Given the description of an element on the screen output the (x, y) to click on. 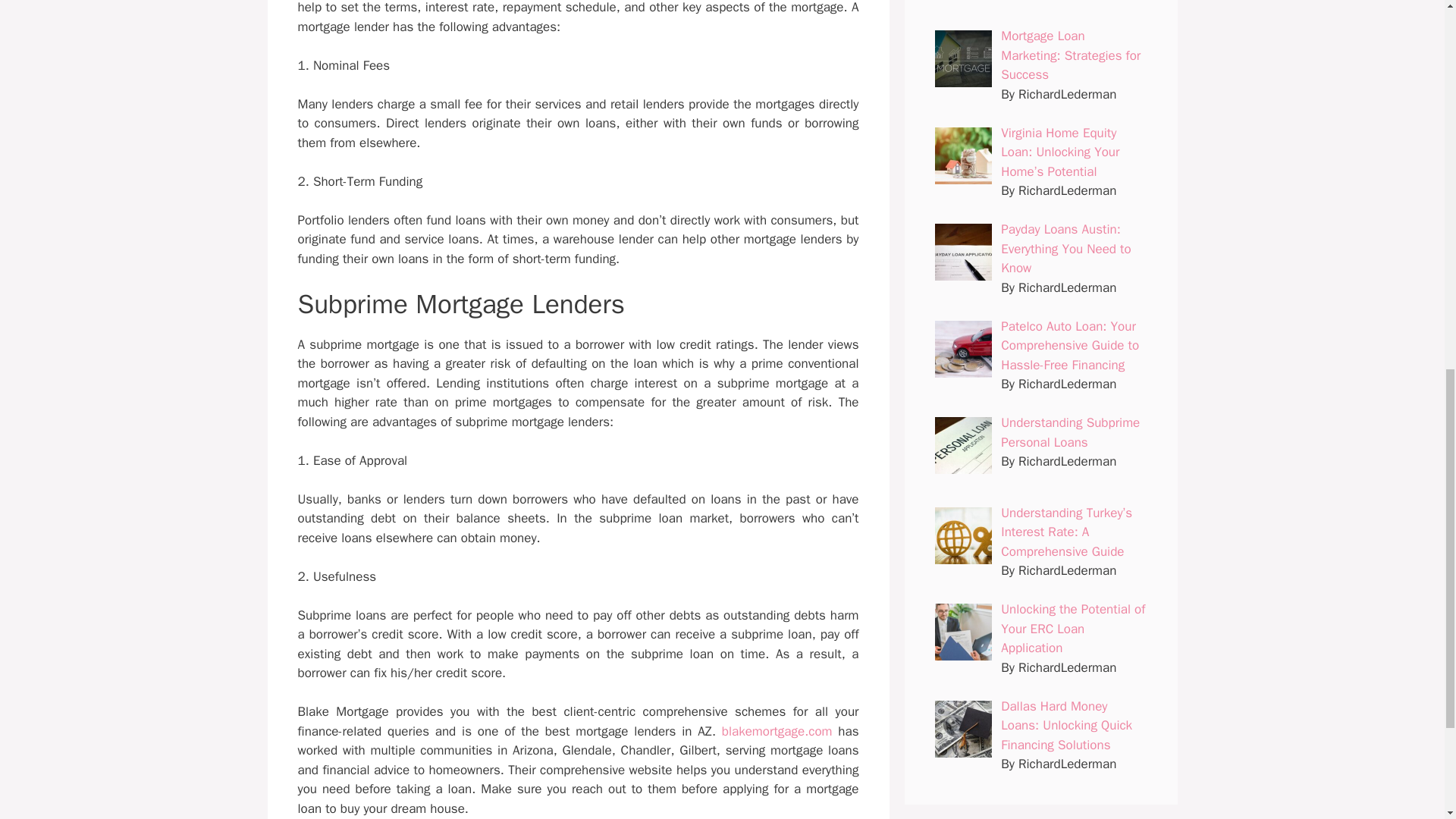
blakemortgage.com (777, 731)
Mortgage Loan Marketing: Strategies for Success (1070, 54)
Understanding Subprime Personal Loans (1070, 432)
Payday Loans Austin: Everything You Need to Know (1066, 248)
Dallas Hard Money Loans: Unlocking Quick Financing Solutions (1066, 725)
Unlocking the Potential of Your ERC Loan Application (1072, 628)
